Given the description of an element on the screen output the (x, y) to click on. 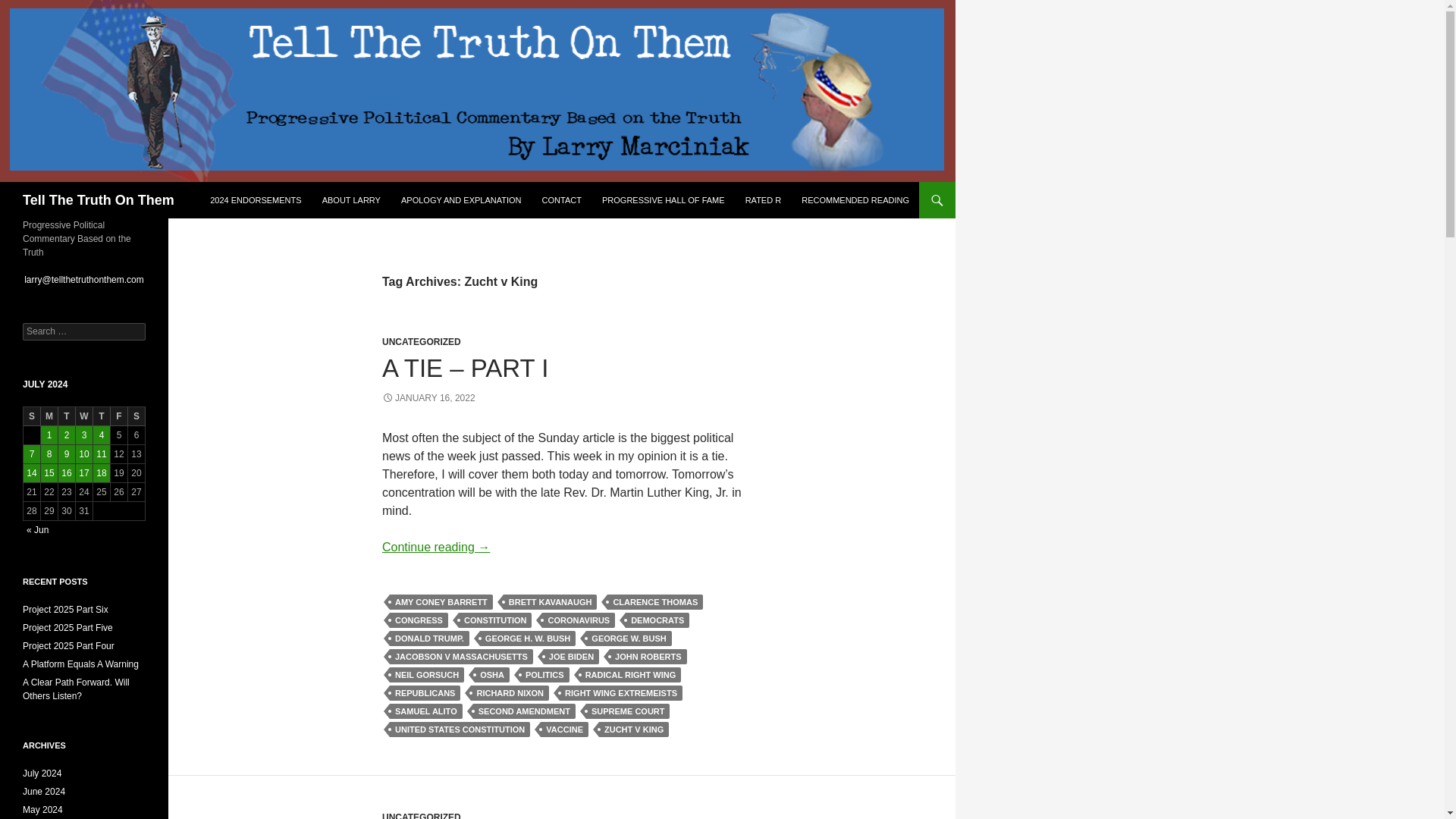
Wednesday (84, 416)
GEORGE H. W. BUSH (527, 638)
NEIL GORSUCH (427, 674)
APOLOGY AND EXPLANATION (461, 199)
Tell The Truth On Them (98, 199)
GEORGE W. BUSH (628, 638)
ABOUT LARRY (351, 199)
RICHARD NIXON (509, 693)
CORONAVIRUS (577, 620)
CONTACT (561, 199)
POLITICS (544, 674)
Tuesday (66, 416)
UNCATEGORIZED (421, 341)
Friday (119, 416)
